Given the description of an element on the screen output the (x, y) to click on. 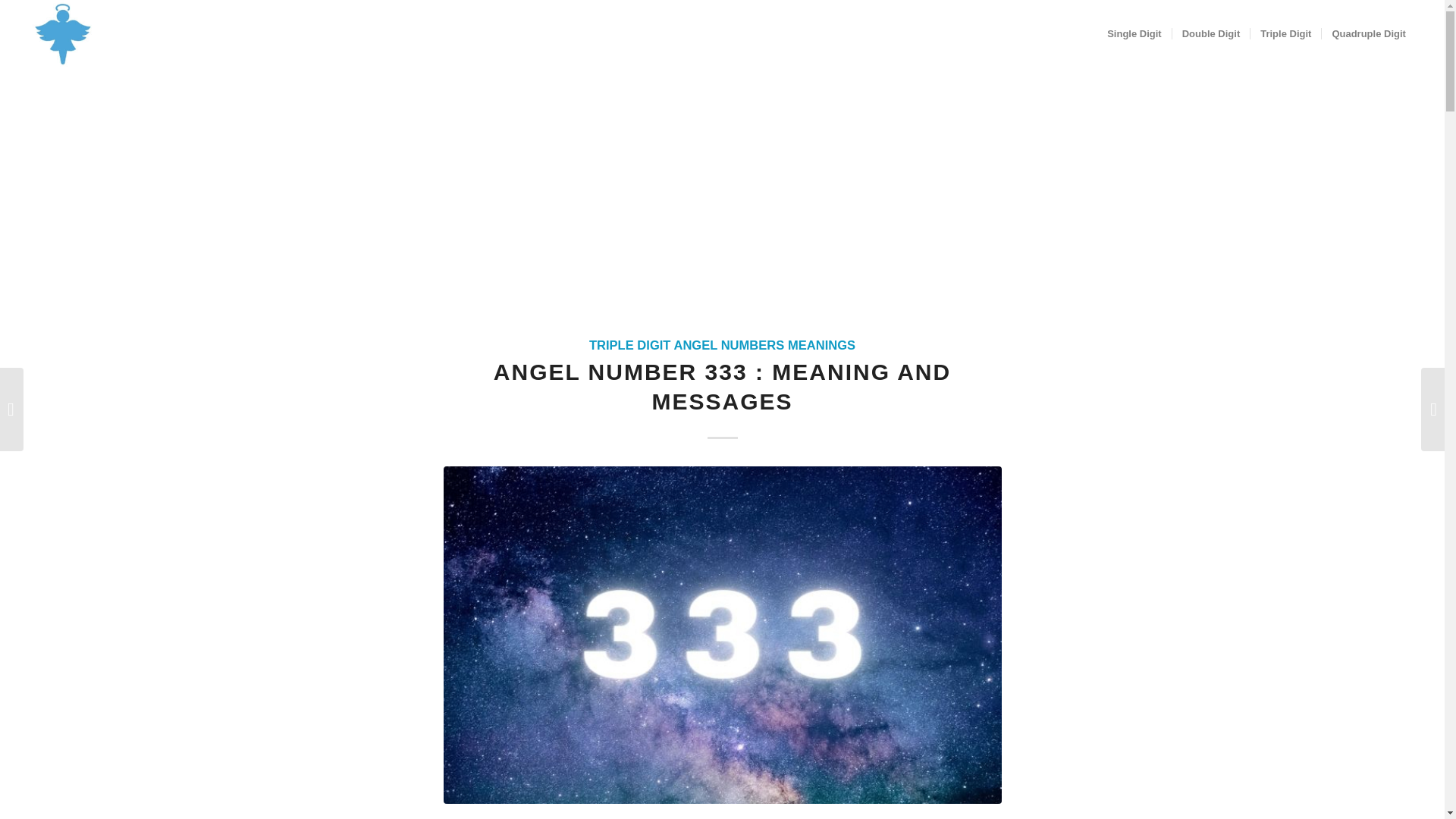
TRIPLE DIGIT ANGEL NUMBERS MEANINGS (722, 345)
Double Digit (1211, 33)
Triple Digit (1284, 33)
Quadruple Digit (1367, 33)
Single Digit (1134, 33)
number meaning logo (103, 33)
